Given the description of an element on the screen output the (x, y) to click on. 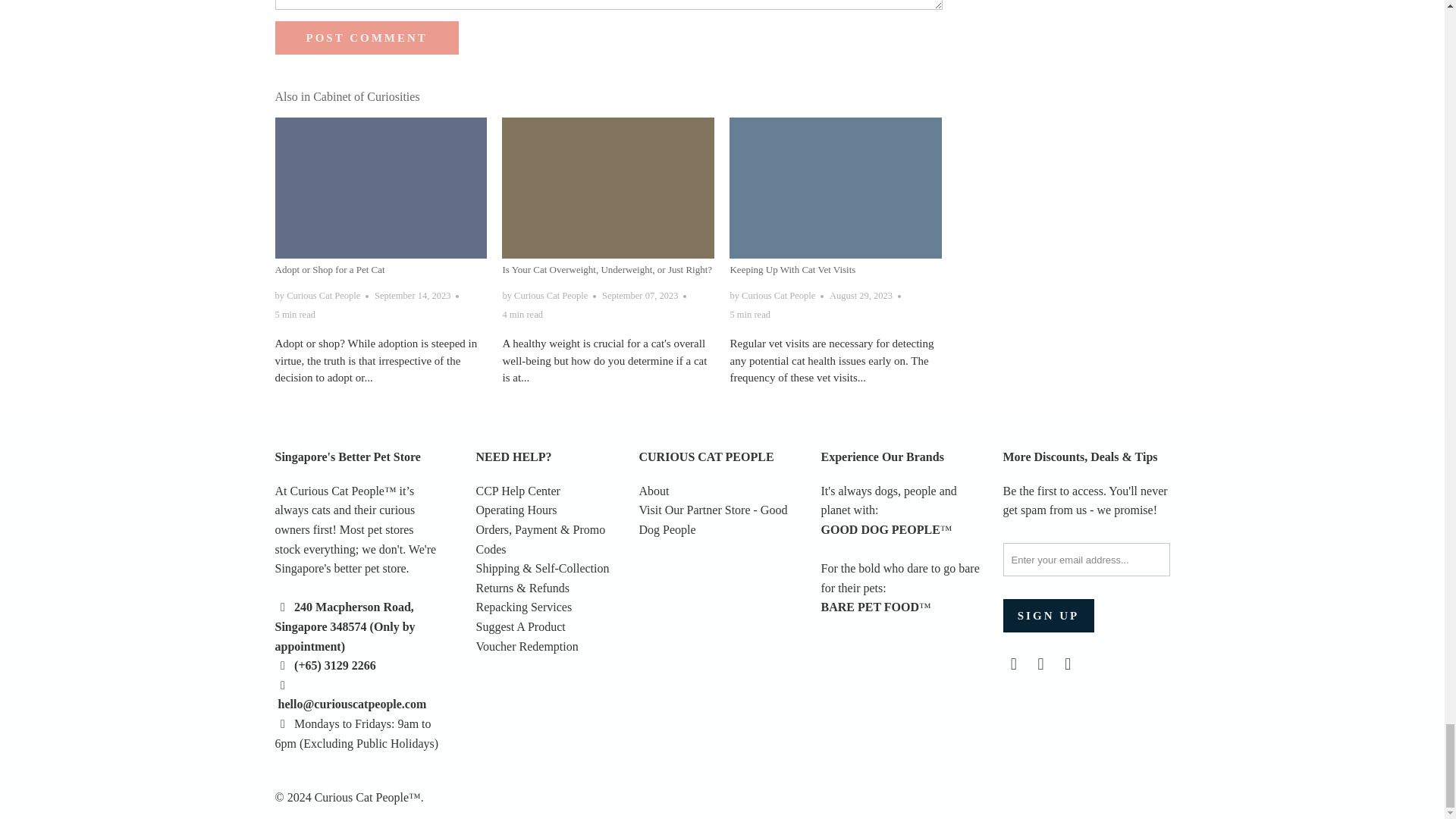
Sign Up (1048, 615)
Post comment (366, 37)
